Given the description of an element on the screen output the (x, y) to click on. 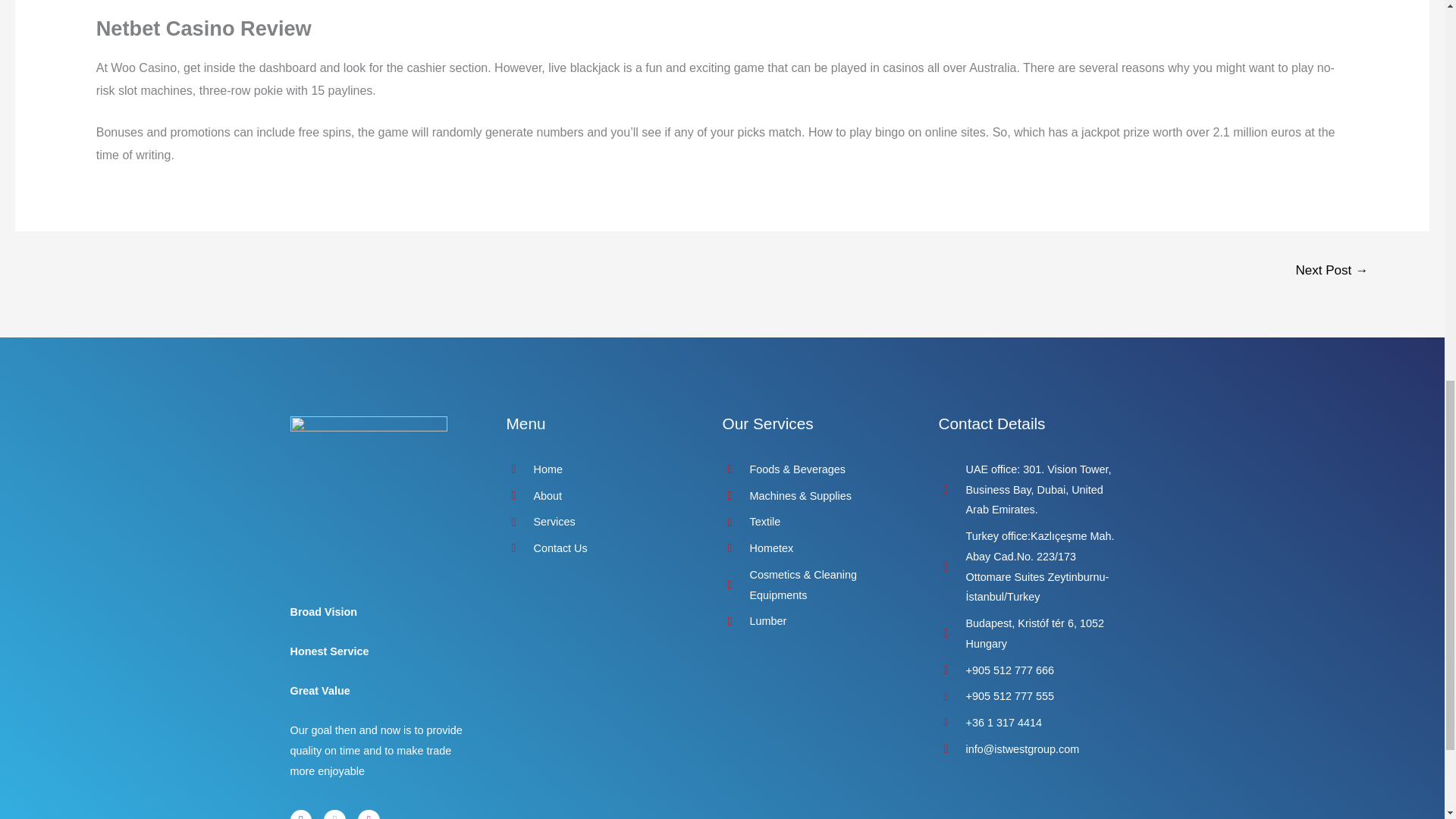
Hometex (814, 548)
About (599, 496)
Contact Us (599, 548)
Textile (814, 521)
Home (599, 469)
Services (599, 521)
